Given the description of an element on the screen output the (x, y) to click on. 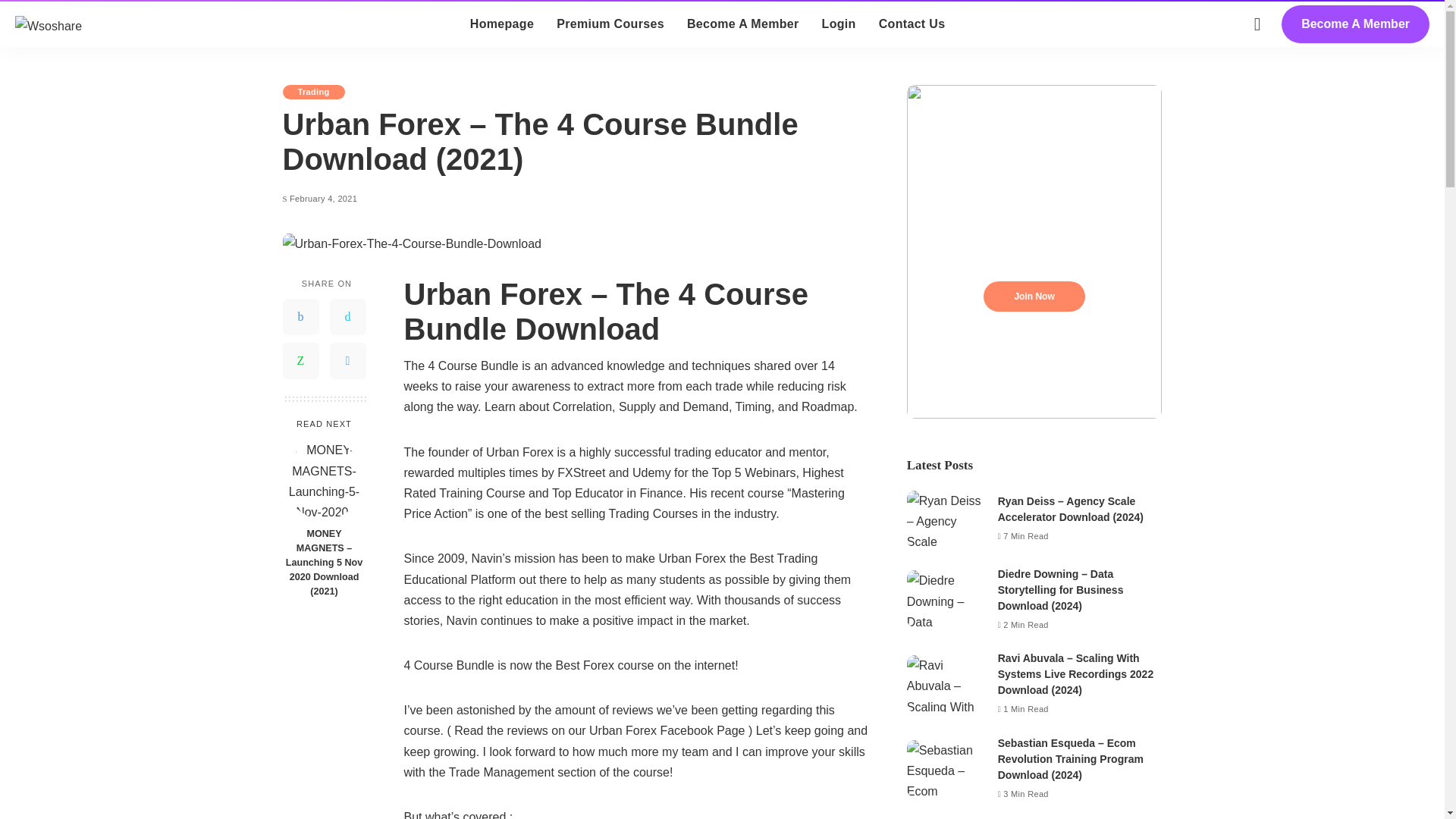
Wsoshare (47, 23)
Premium Courses (609, 23)
Become A Member (1355, 23)
WhatsApp (300, 361)
Search (1408, 5)
Telegram (347, 361)
Contact Us (911, 23)
Twitter (347, 316)
Homepage (501, 23)
Trading (312, 92)
Facebook (300, 316)
Become A Member (742, 23)
Login (838, 23)
Search (1408, 66)
